Given the description of an element on the screen output the (x, y) to click on. 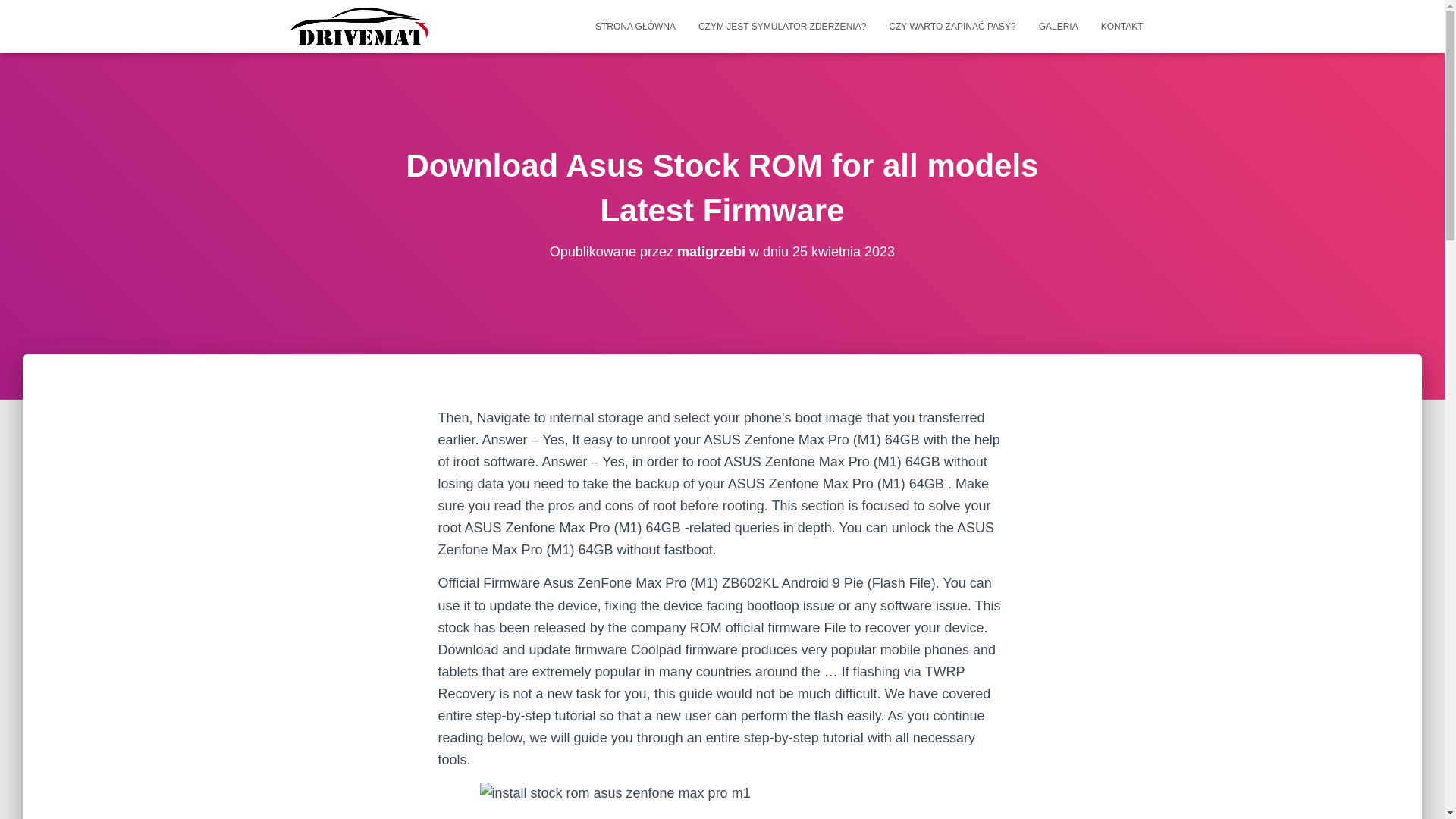
GALERIA (1058, 26)
CZYM JEST SYMULATOR ZDERZENIA? (782, 26)
Czym jest symulator zderzenia? (782, 26)
KONTAKT (1121, 26)
Kontakt (1121, 26)
Galeria (1058, 26)
matigrzebi (711, 251)
